Given the description of an element on the screen output the (x, y) to click on. 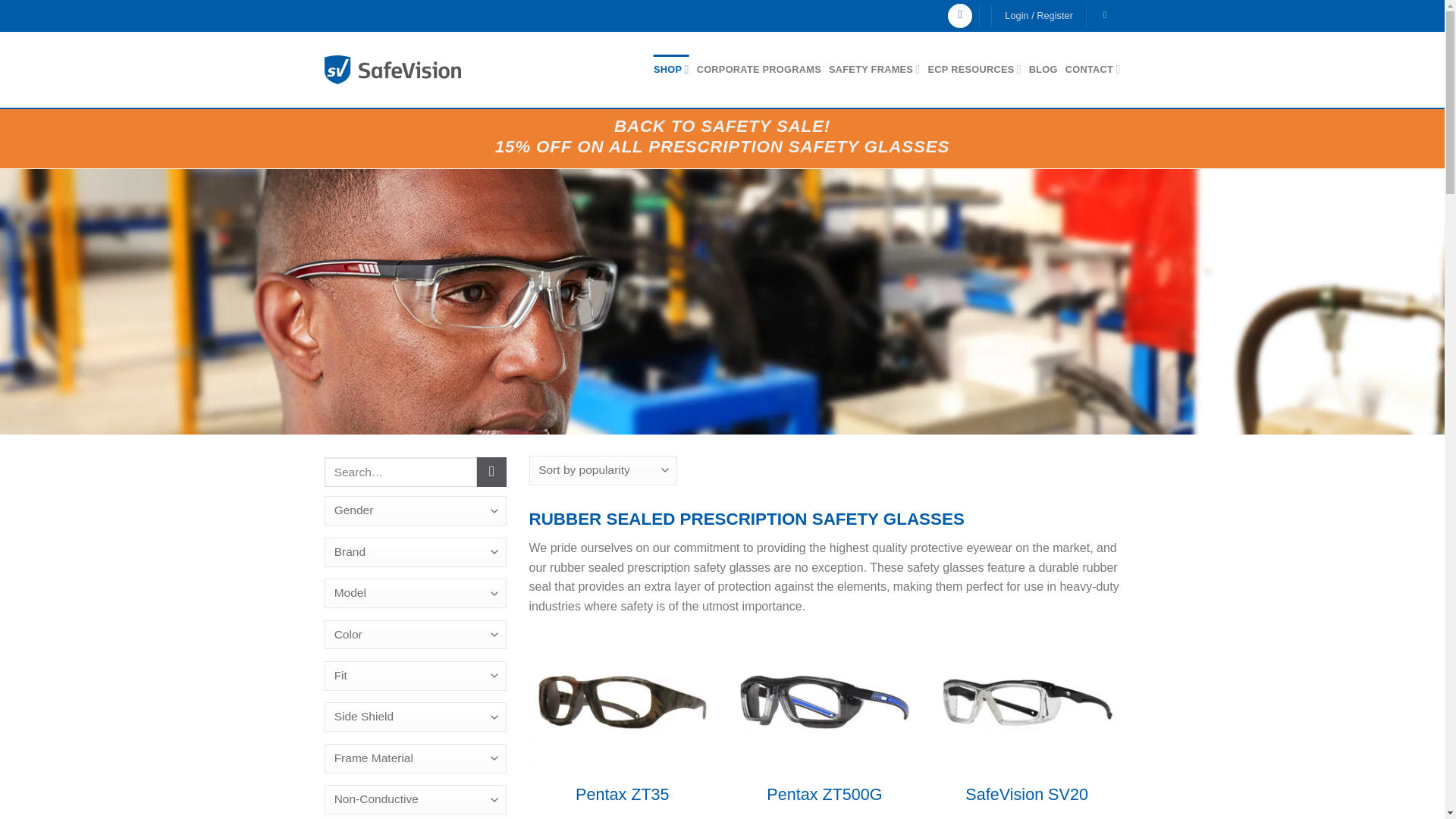
BLOG (1043, 69)
SAFETY FRAMES (874, 69)
SHOP (670, 69)
CONTACT (1093, 69)
Search (491, 471)
Login (1038, 15)
CORPORATE PROGRAMS (759, 69)
ECP RESOURCES (973, 69)
Cart (1107, 15)
SafeVision (392, 69)
